Given the description of an element on the screen output the (x, y) to click on. 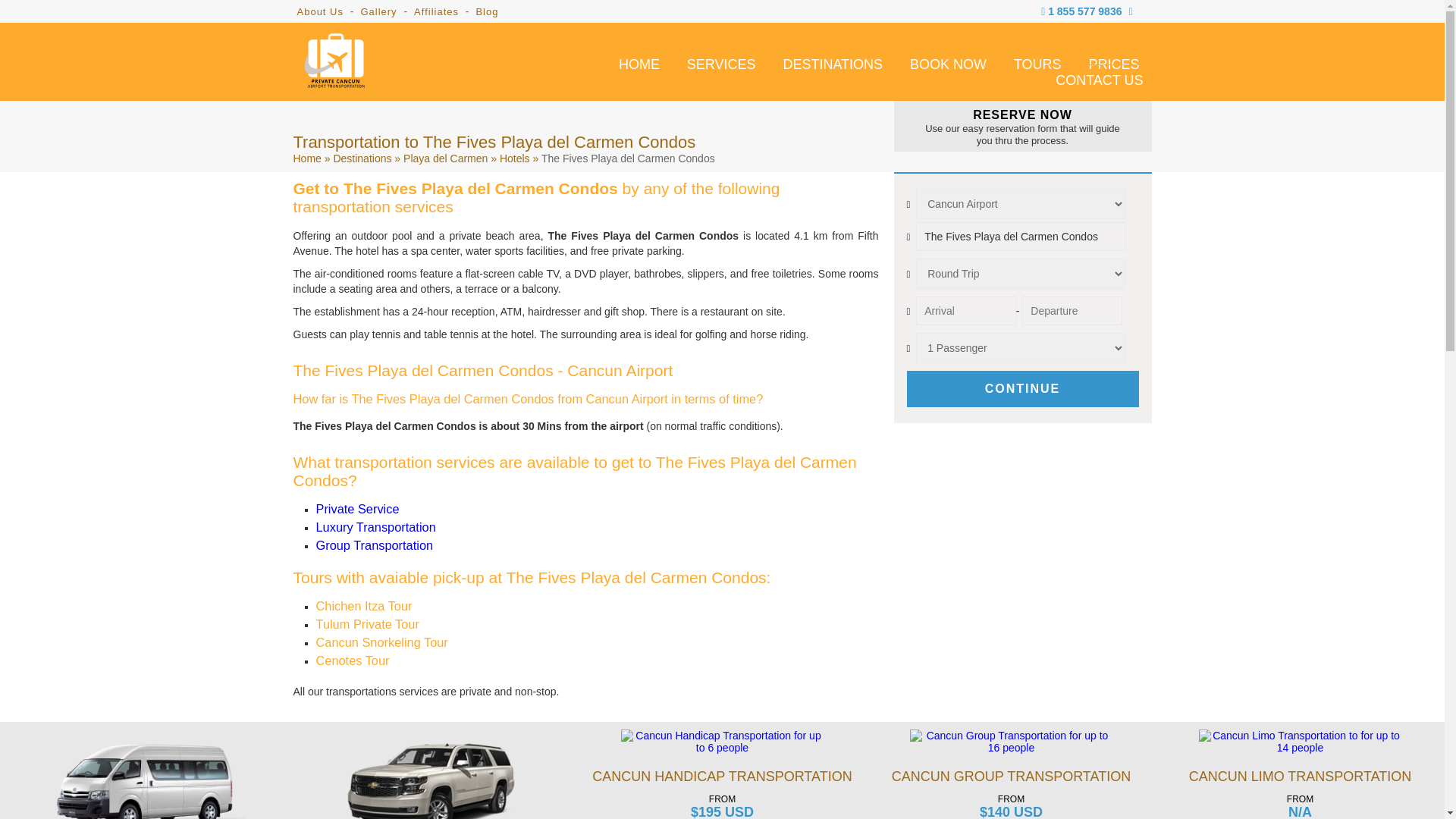
Hotels (514, 158)
SERVICES (721, 62)
About Us (320, 11)
About Private Cancun Airport Transportation (320, 11)
Book your Private Private Cancun Airport Transportation (947, 62)
Private Cancun Airport Transportation - Affiliates program (435, 11)
CONTINUE (1022, 389)
PRICES (1113, 62)
Private Private Cancun Airport Transportation Services (721, 62)
TOURS (1038, 62)
